Given the description of an element on the screen output the (x, y) to click on. 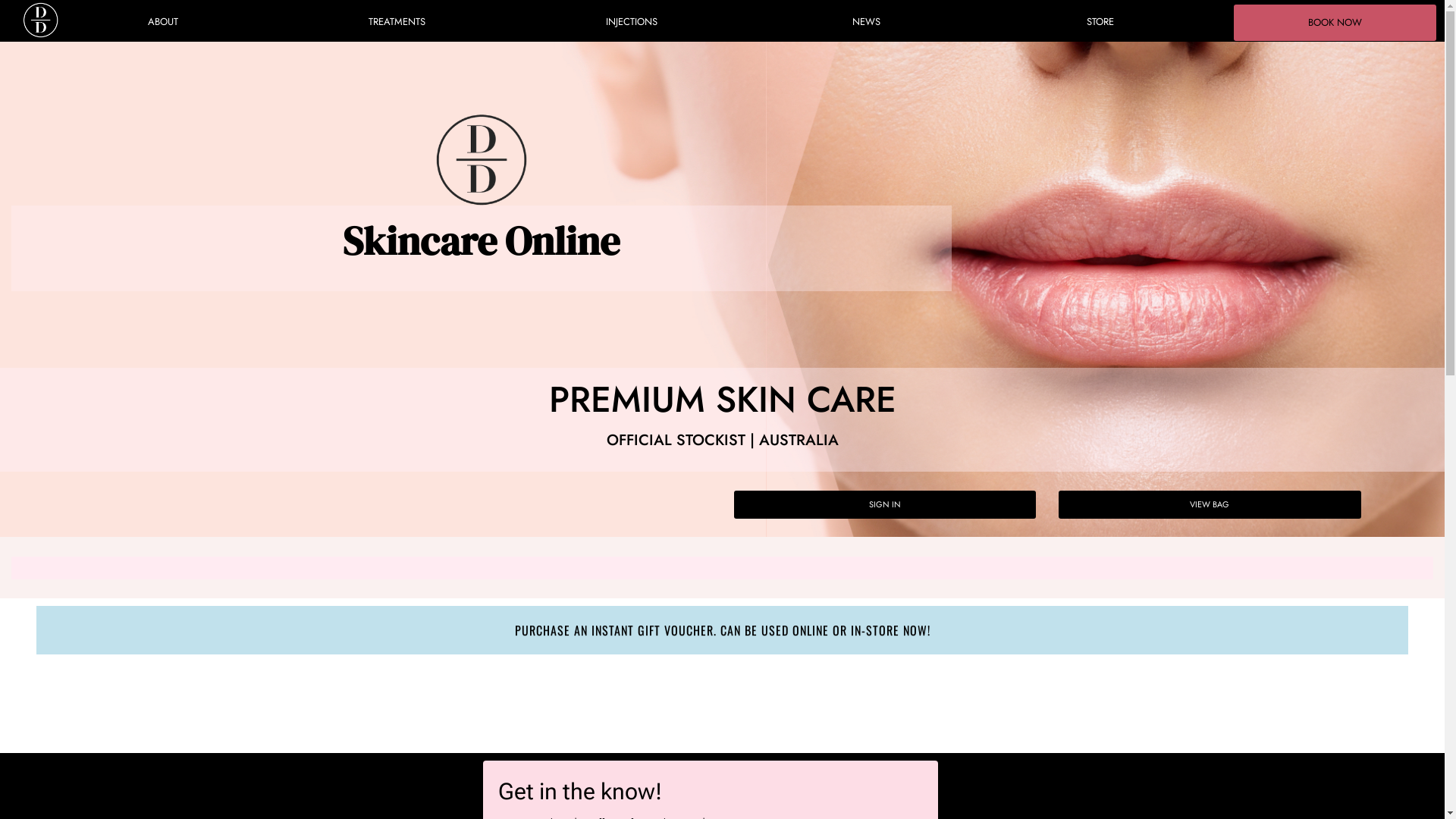
INJECTIONS Element type: text (631, 21)
TREATMENTS Element type: text (396, 21)
STORE Element type: text (1100, 21)
VIEW BAG Element type: text (1209, 504)
NEWS Element type: text (865, 21)
SIGN IN Element type: text (885, 504)
WELCOME Element type: hover (40, 19)
ABOUT Element type: text (162, 21)
BOOK NOW Element type: text (1334, 22)
